Given the description of an element on the screen output the (x, y) to click on. 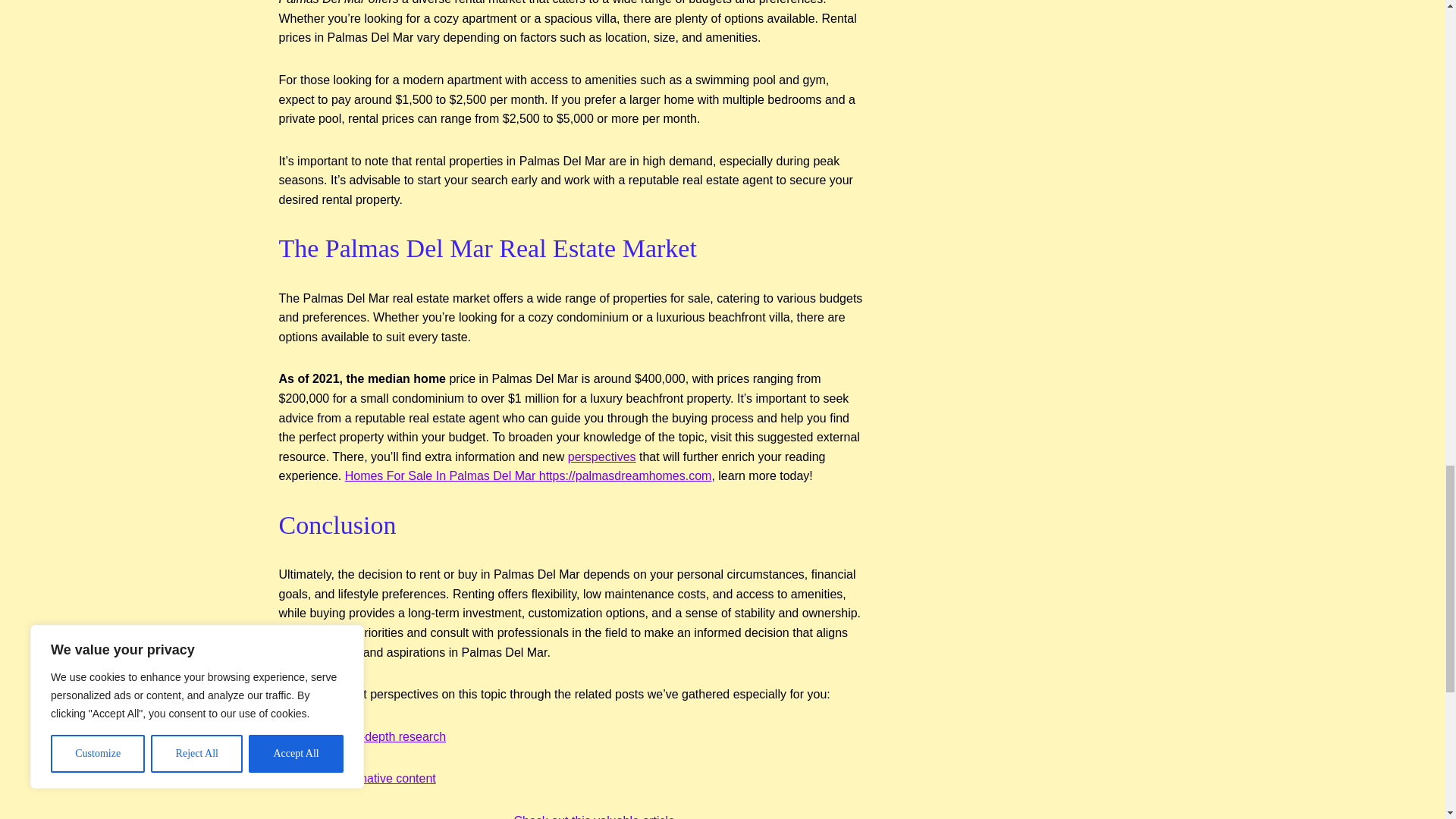
Check out this valuable article (594, 816)
Discover this in-depth research (362, 736)
Read this informative content (357, 778)
perspectives (601, 456)
